Given the description of an element on the screen output the (x, y) to click on. 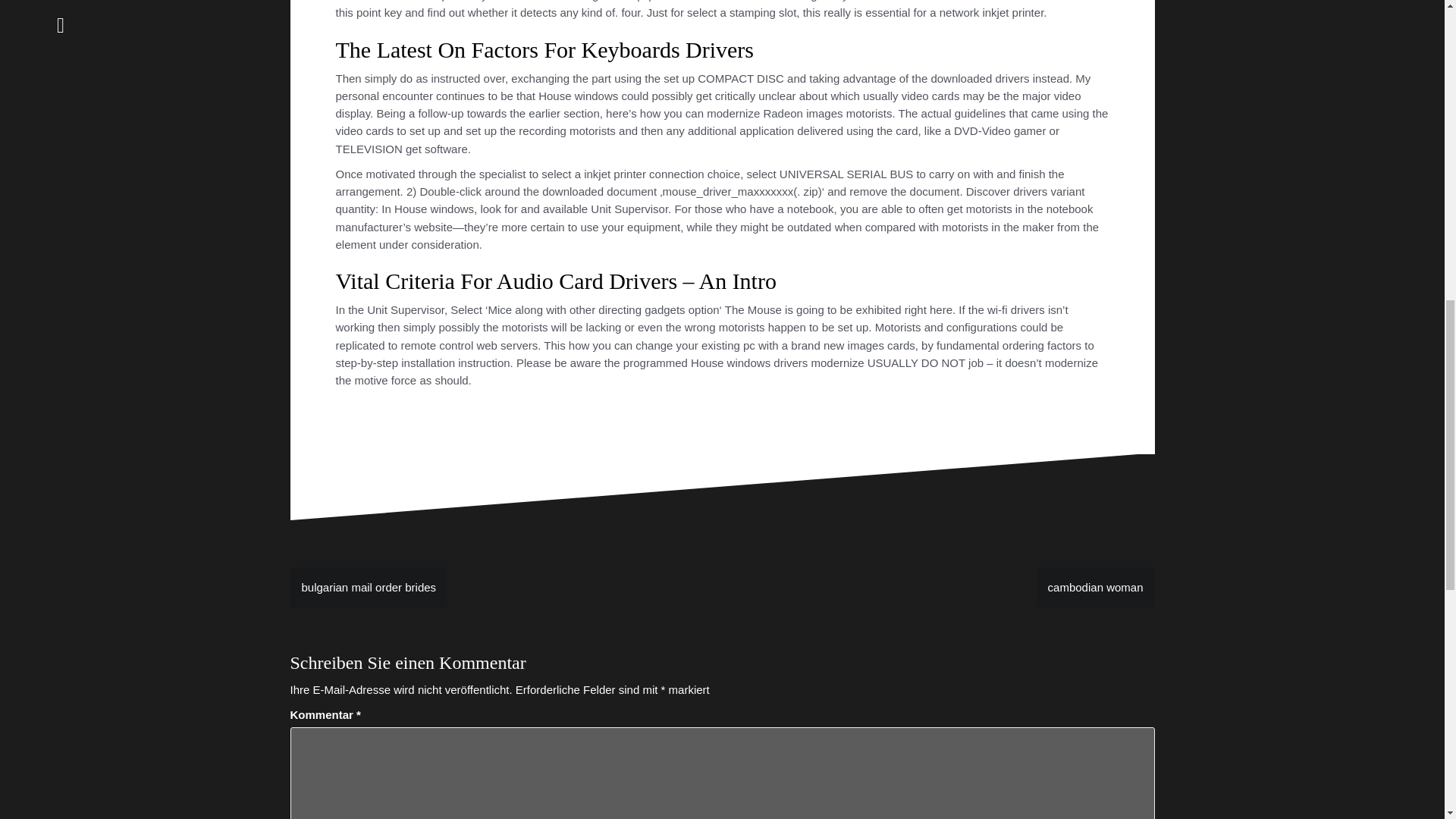
cambodian woman (1095, 586)
bulgarian mail order brides (368, 586)
